Given the description of an element on the screen output the (x, y) to click on. 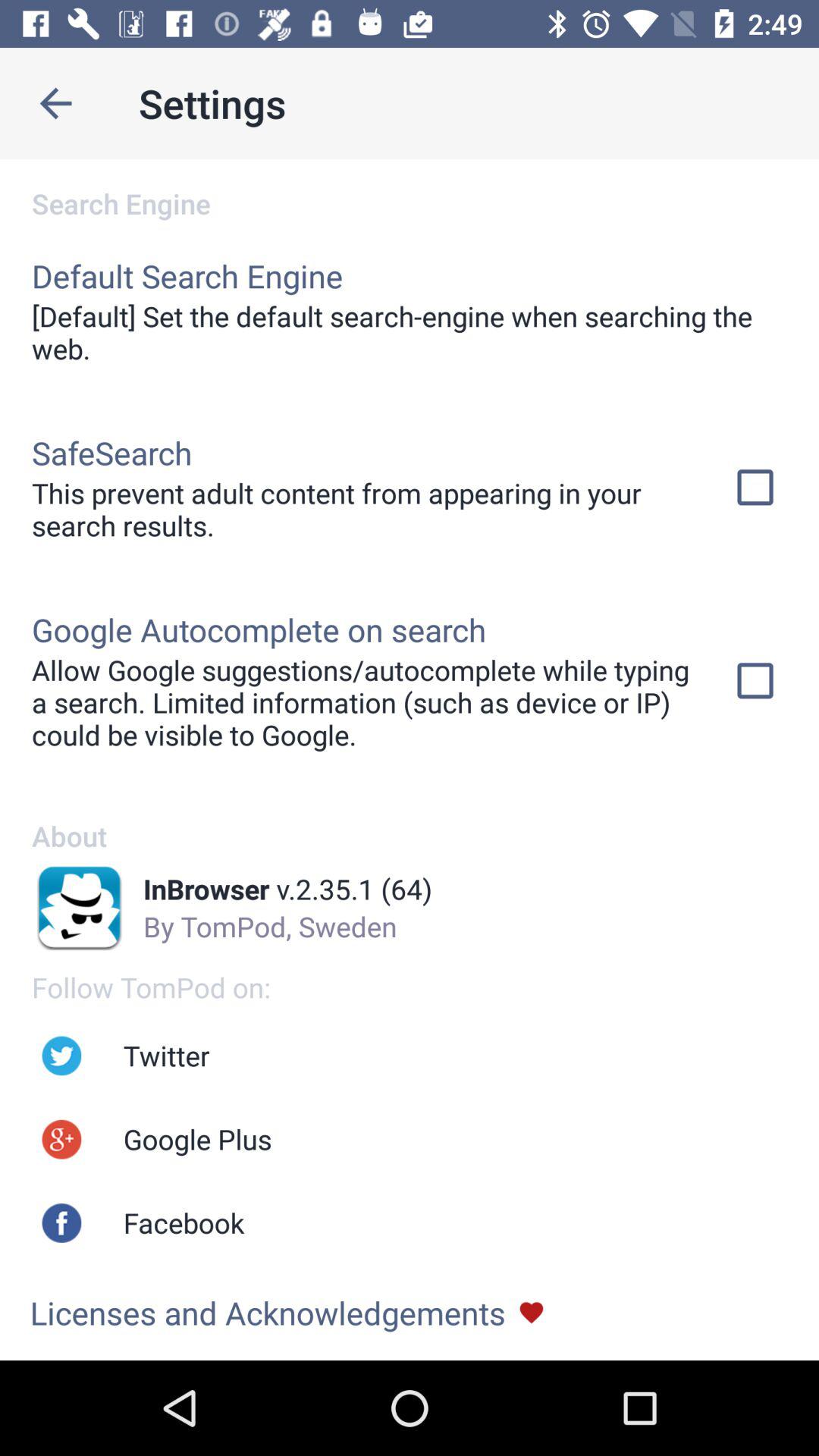
tap this prevent adult app (361, 509)
